Given the description of an element on the screen output the (x, y) to click on. 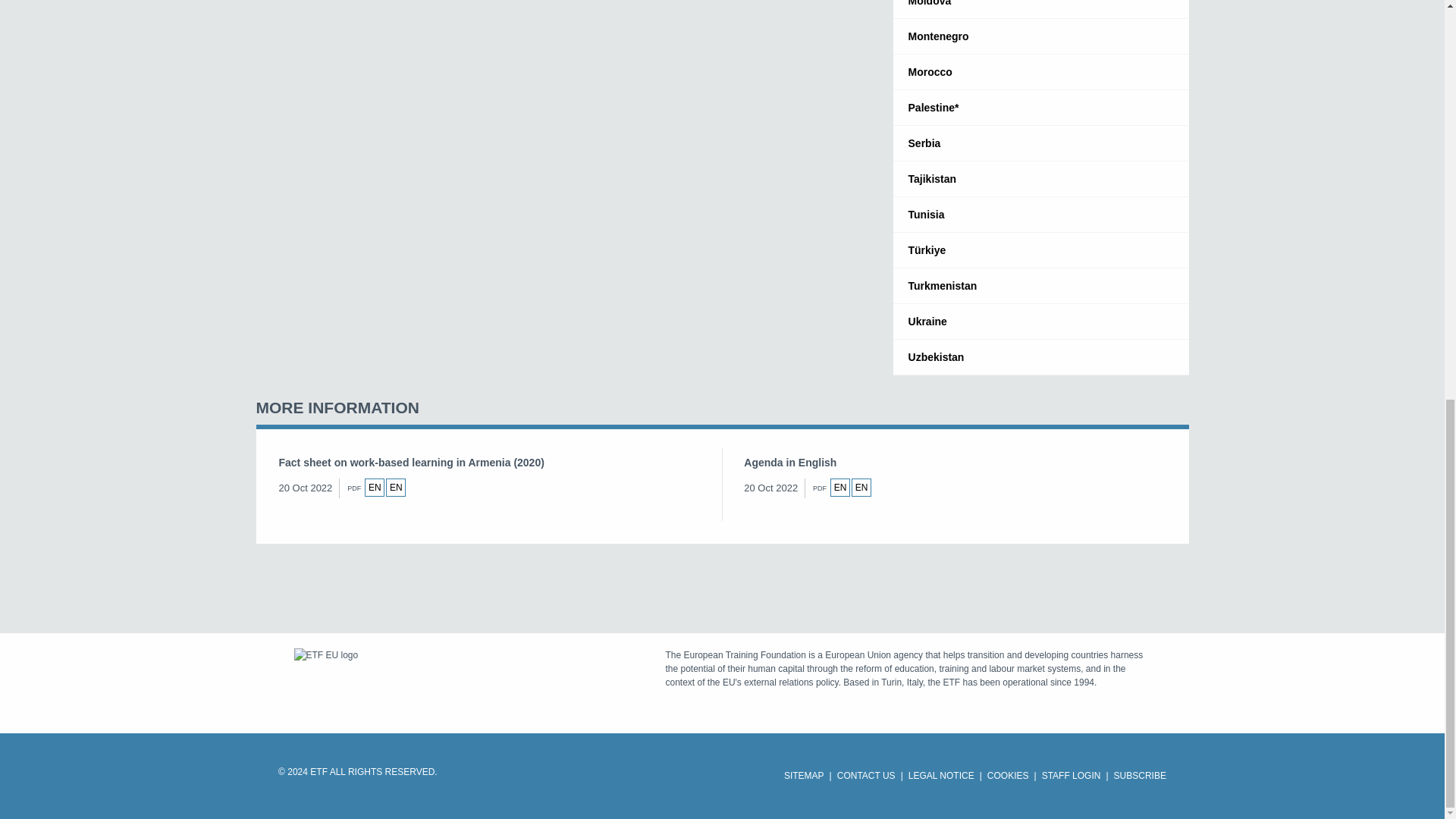
pdf Agenda in English (839, 487)
